Given the description of an element on the screen output the (x, y) to click on. 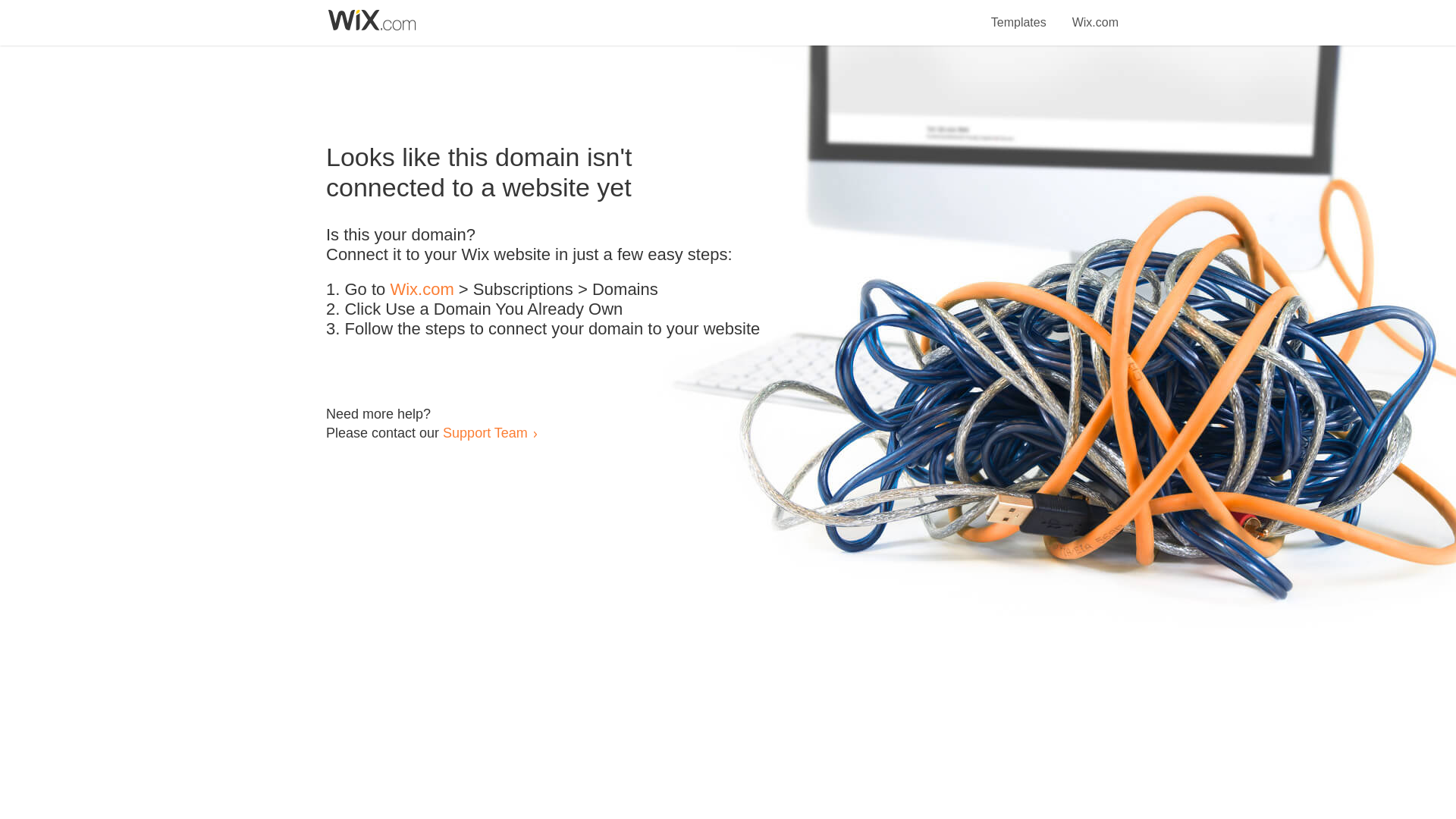
Wix.com (1095, 14)
Templates (1018, 14)
Wix.com (421, 289)
Support Team (484, 432)
